Given the description of an element on the screen output the (x, y) to click on. 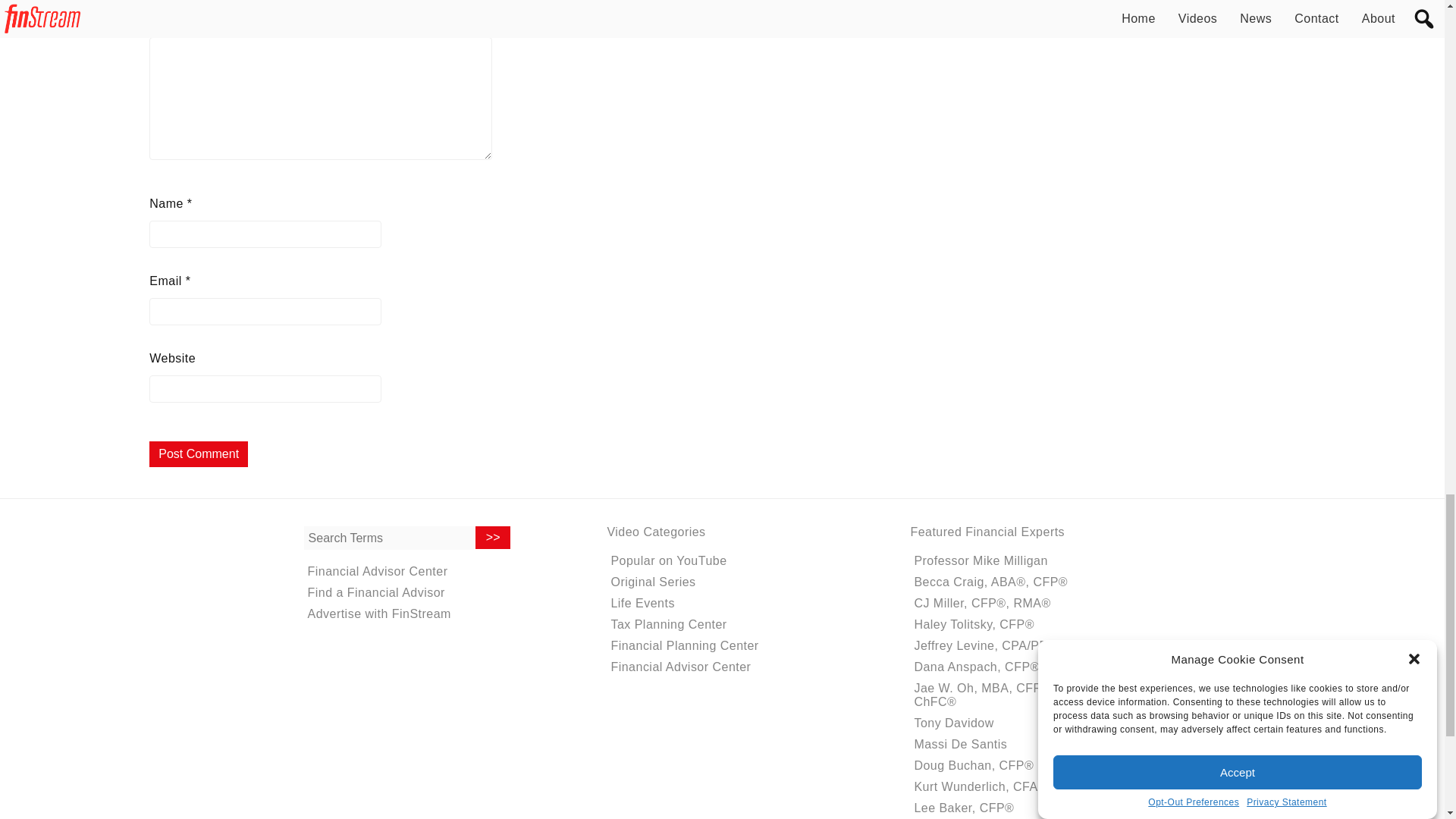
Post Comment (198, 453)
Post Comment (198, 453)
